Given the description of an element on the screen output the (x, y) to click on. 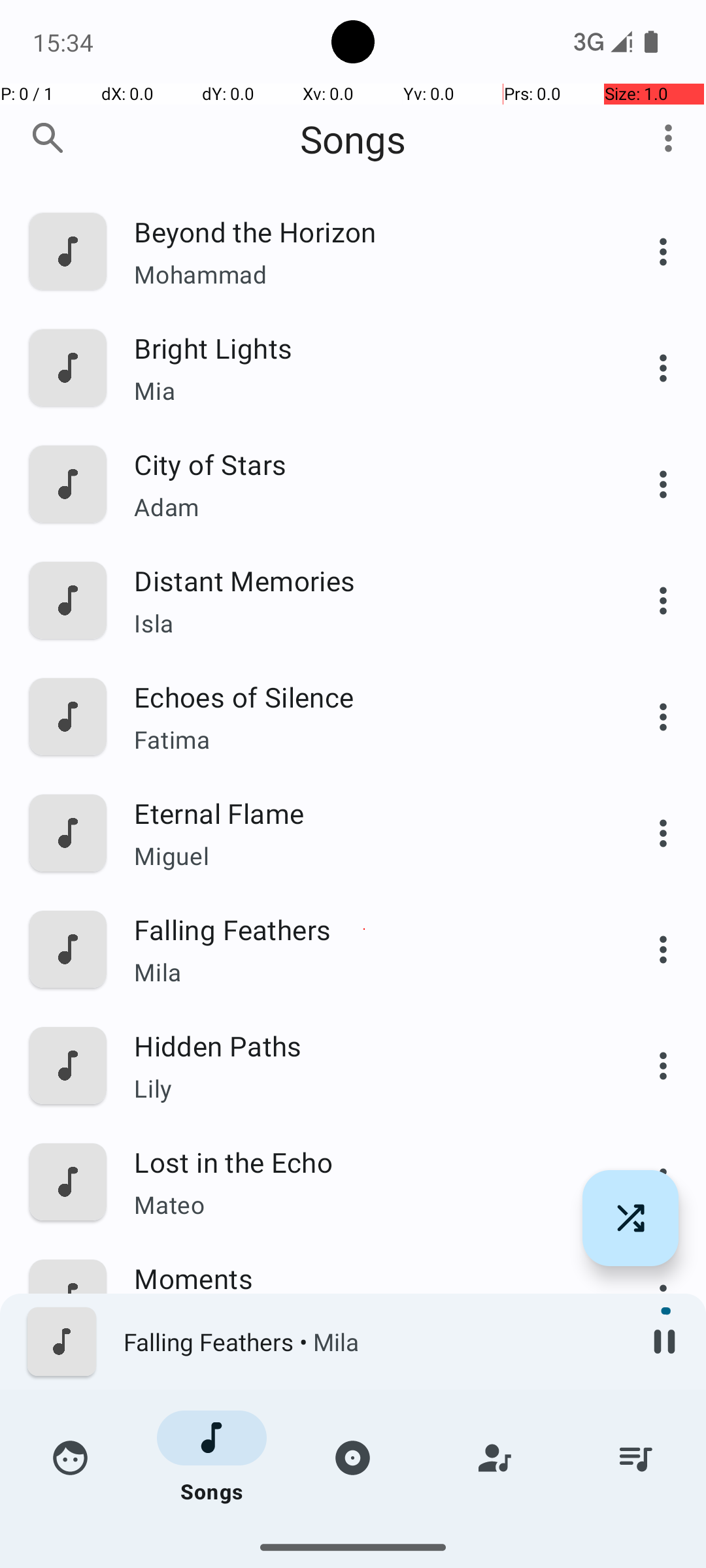
Falling Feathers • Mila Element type: android.widget.TextView (372, 1341)
Beyond the Horizon Element type: android.widget.TextView (363, 231)
Mohammad Element type: android.widget.TextView (363, 273)
Bright Lights Element type: android.widget.TextView (363, 347)
Mia Element type: android.widget.TextView (363, 390)
City of Stars Element type: android.widget.TextView (363, 463)
Adam Element type: android.widget.TextView (363, 506)
Distant Memories Element type: android.widget.TextView (363, 580)
Isla Element type: android.widget.TextView (363, 622)
Echoes of Silence Element type: android.widget.TextView (363, 696)
Fatima Element type: android.widget.TextView (363, 738)
Eternal Flame Element type: android.widget.TextView (363, 812)
Miguel Element type: android.widget.TextView (363, 855)
Falling Feathers Element type: android.widget.TextView (363, 928)
Mila Element type: android.widget.TextView (363, 971)
Hidden Paths Element type: android.widget.TextView (363, 1045)
Lily Element type: android.widget.TextView (363, 1087)
Lost in the Echo Element type: android.widget.TextView (363, 1161)
Mateo Element type: android.widget.TextView (363, 1204)
Moments Element type: android.widget.TextView (363, 1277)
Rising Sun Element type: android.widget.TextView (363, 1394)
Ella Element type: android.widget.TextView (363, 1436)
Silent Dreams Element type: android.widget.TextView (363, 1510)
Charlotte Element type: android.widget.TextView (363, 1538)
